Given the description of an element on the screen output the (x, y) to click on. 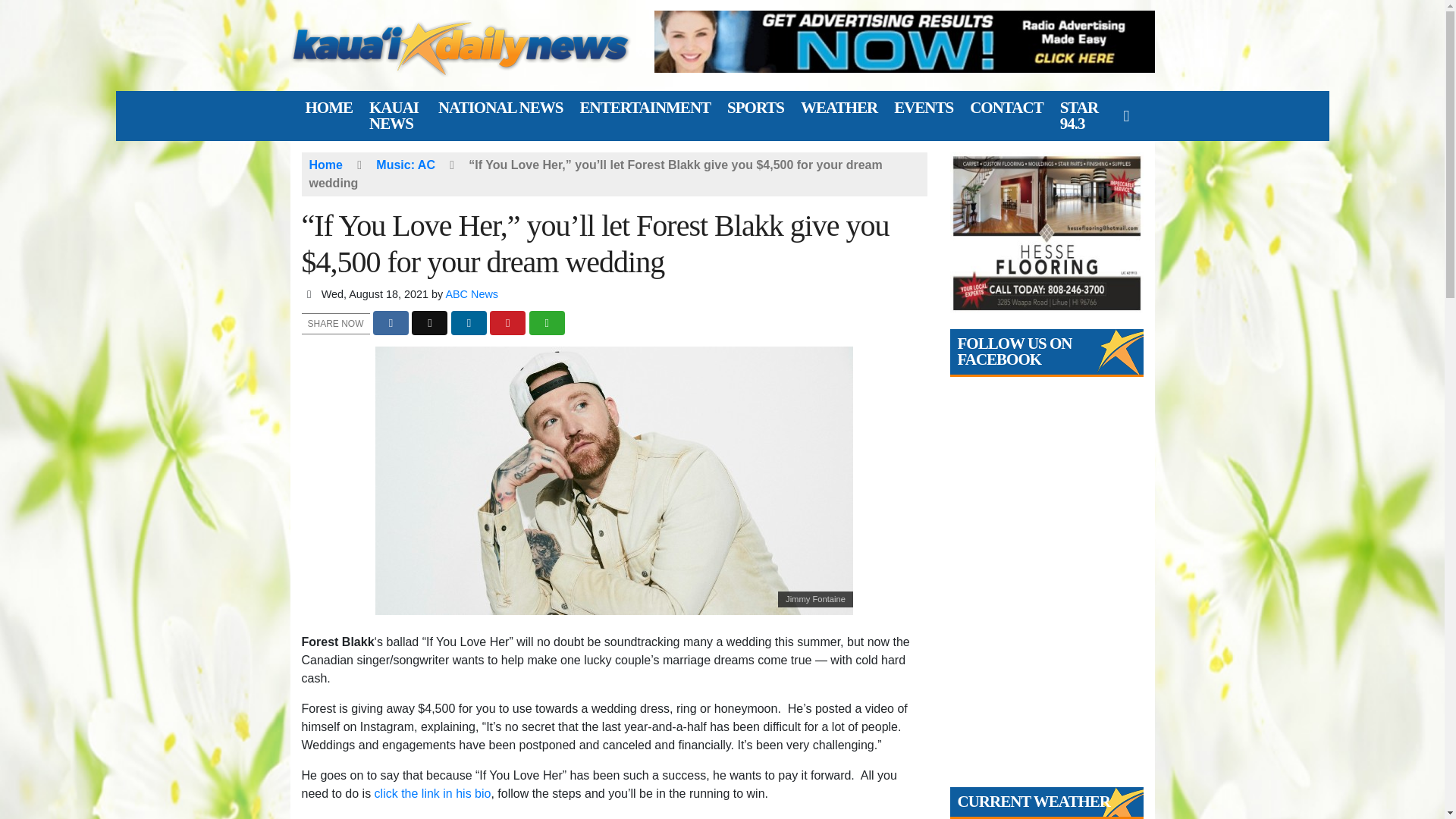
Share to LinkedIn (468, 323)
Share to X (429, 323)
Share via E-Mail (546, 323)
Share to Facebook (390, 323)
Share to Pinterest (507, 323)
Posts by ABC News (471, 294)
